Given the description of an element on the screen output the (x, y) to click on. 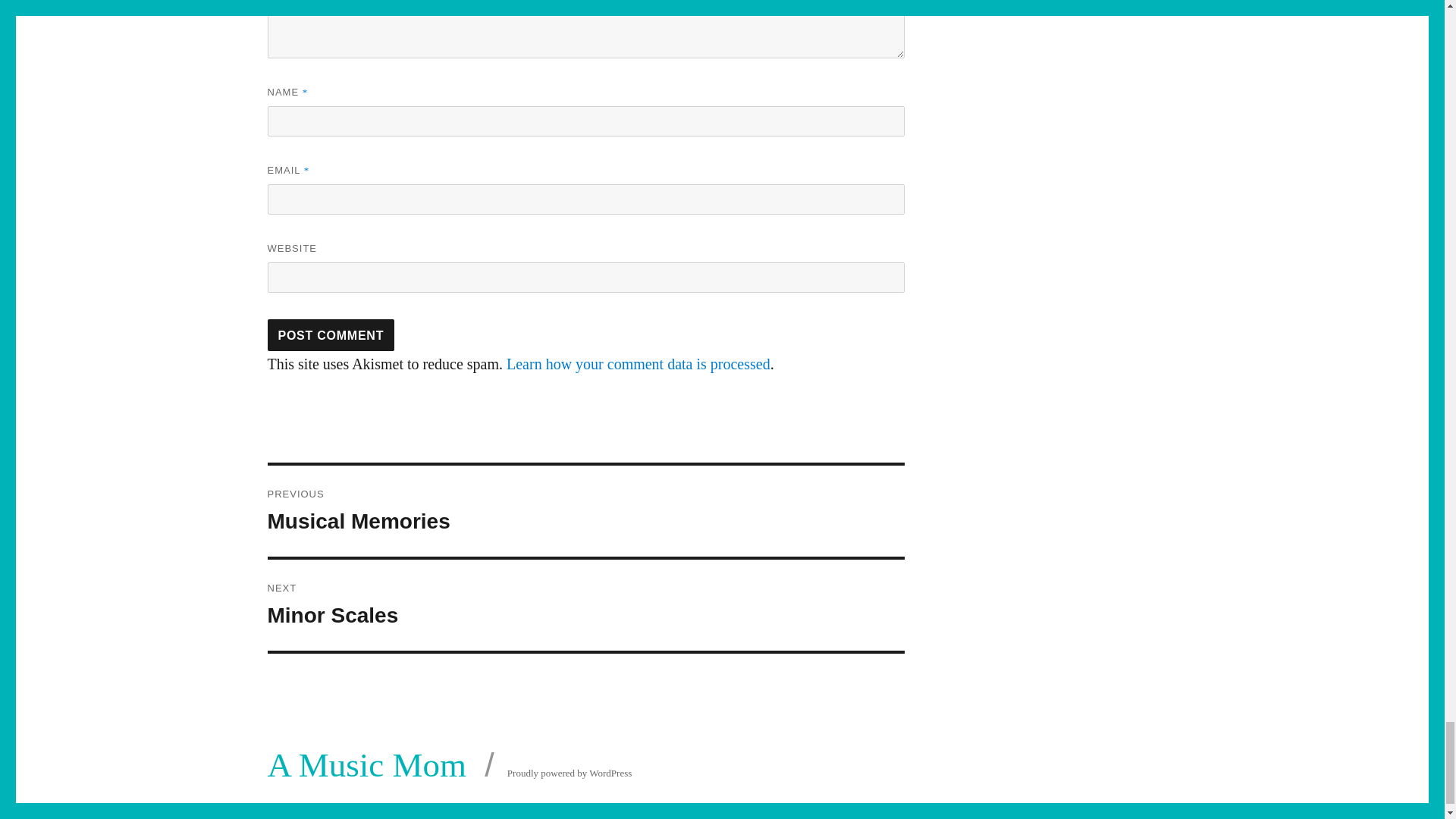
Post Comment (330, 335)
